Given the description of an element on the screen output the (x, y) to click on. 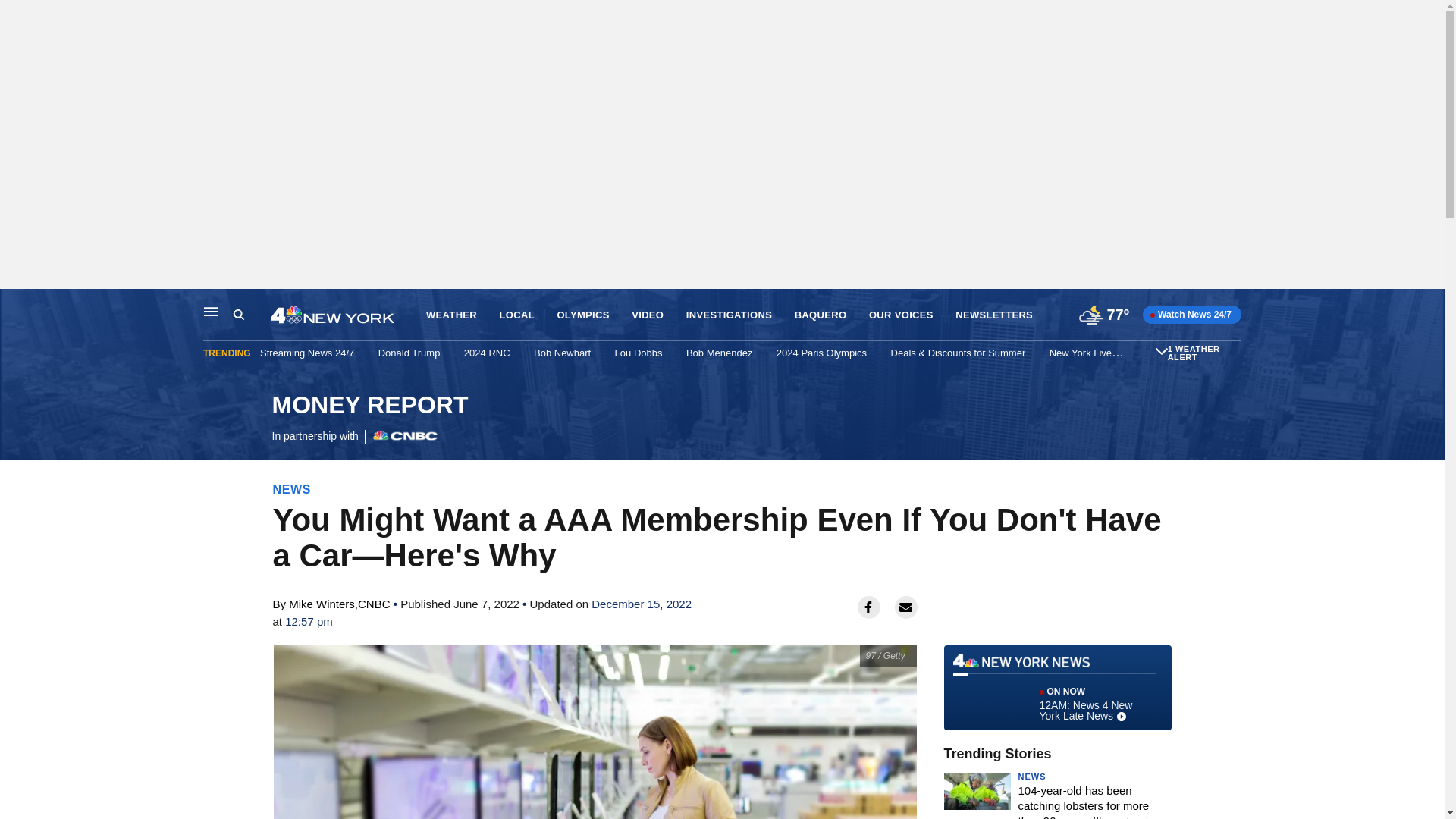
NEWS (292, 489)
OUR VOICES (901, 315)
OLYMPICS (582, 315)
Main Navigation (210, 311)
VIDEO (647, 315)
BAQUERO (820, 315)
Expand (1161, 350)
2024 Paris Olympics (821, 352)
Skip to content (16, 304)
Search (252, 314)
Bob Menendez (718, 352)
New York Live (1080, 352)
LOCAL (516, 315)
2024 RNC (487, 352)
Search (238, 314)
